Given the description of an element on the screen output the (x, y) to click on. 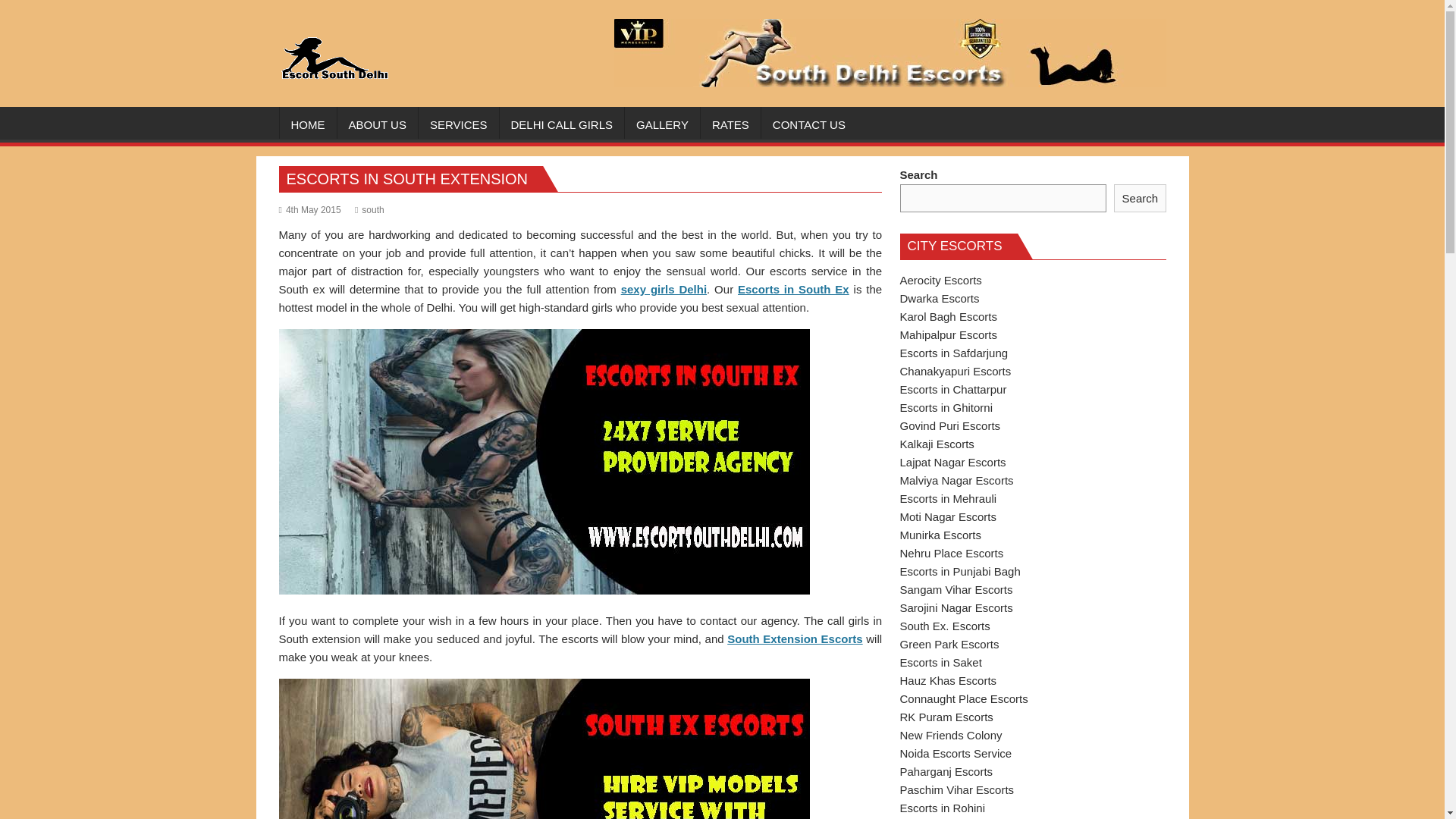
RATES (730, 125)
DELHI CALL GIRLS (561, 125)
HOME (307, 125)
CONTACT US (809, 125)
SERVICES (459, 125)
south (369, 209)
Escorts in South Ex (793, 288)
GALLERY (662, 125)
ABOUT US (376, 125)
South Extension Escorts (793, 638)
sexy girls Delhi (663, 288)
4th May 2015 (309, 209)
